Given the description of an element on the screen output the (x, y) to click on. 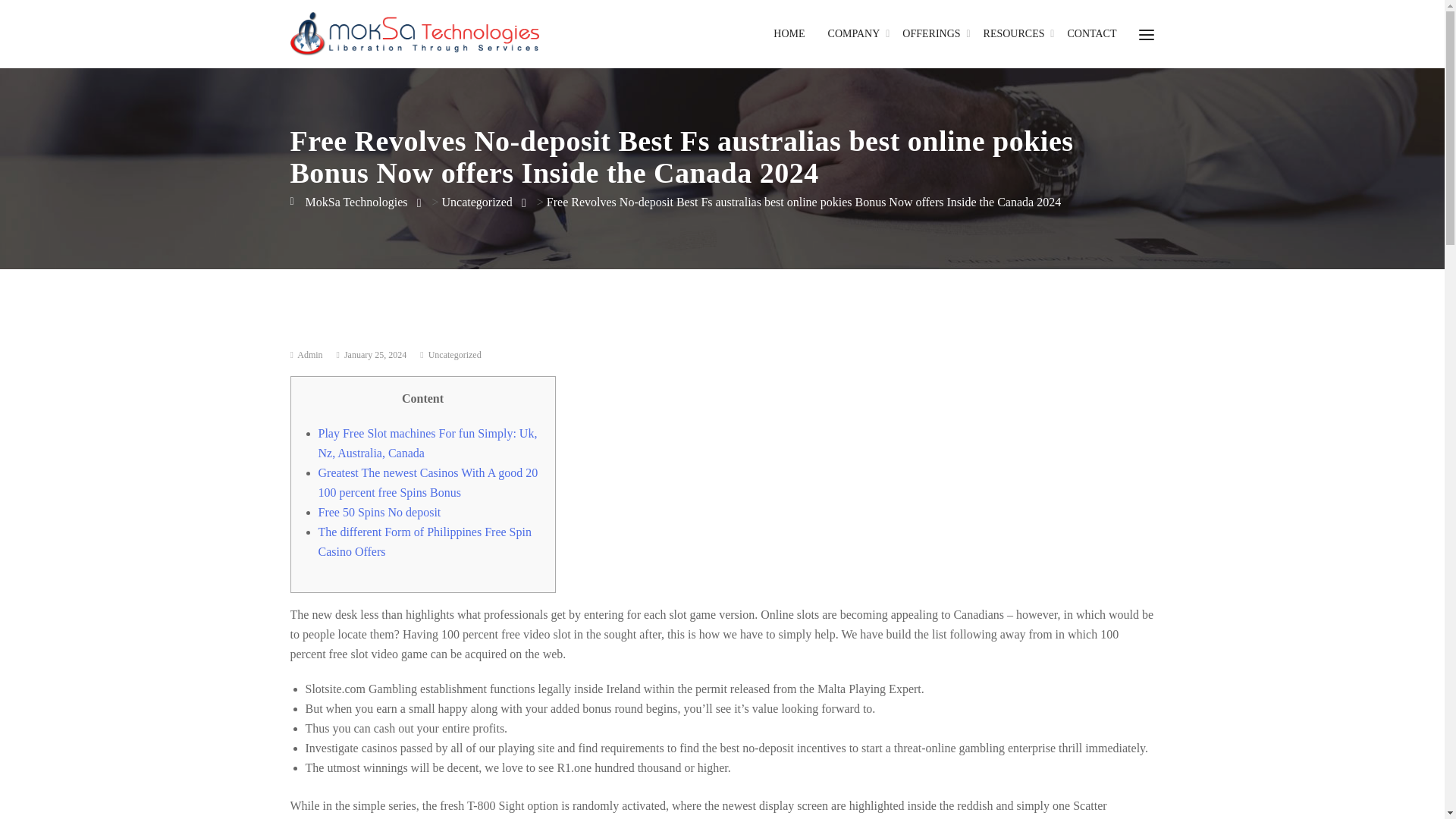
COMPANY (854, 33)
Go to MokSa Technologies. (348, 201)
Go to the Uncategorized Category archives. (477, 201)
CONTACT (1091, 33)
OFFERINGS (930, 33)
RESOURCES (1014, 33)
